Given the description of an element on the screen output the (x, y) to click on. 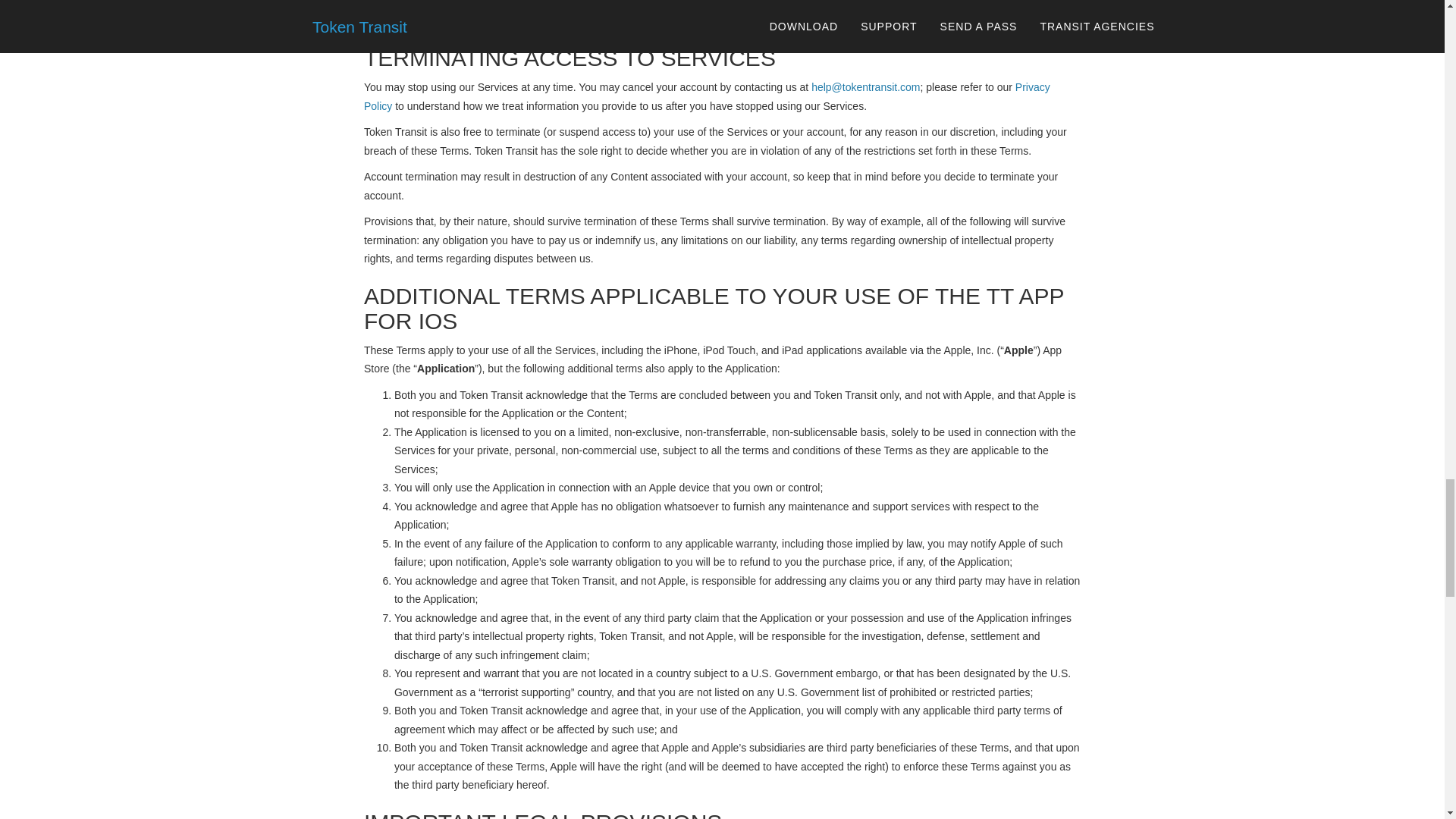
Privacy Policy (706, 96)
